Given the description of an element on the screen output the (x, y) to click on. 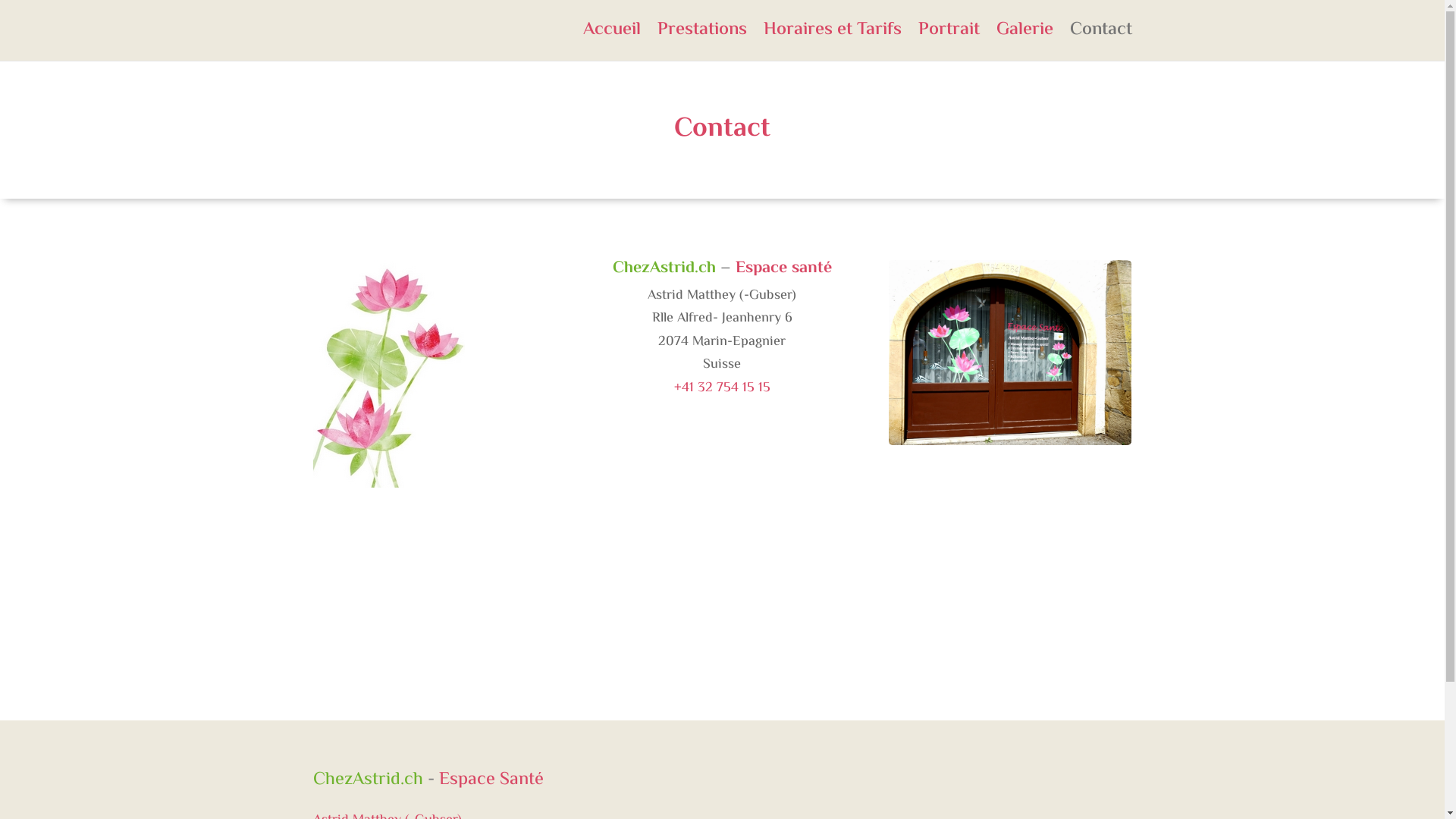
Prestations Element type: text (701, 42)
Contact Element type: text (1100, 42)
Galerie Element type: text (1024, 42)
Devanture Chez Astrid Element type: hover (1009, 352)
Portrait Element type: text (948, 42)
Horaires et Tarifs Element type: text (831, 42)
+41 32 754 15 15 Element type: text (722, 387)
Accueil Element type: text (611, 42)
